Given the description of an element on the screen output the (x, y) to click on. 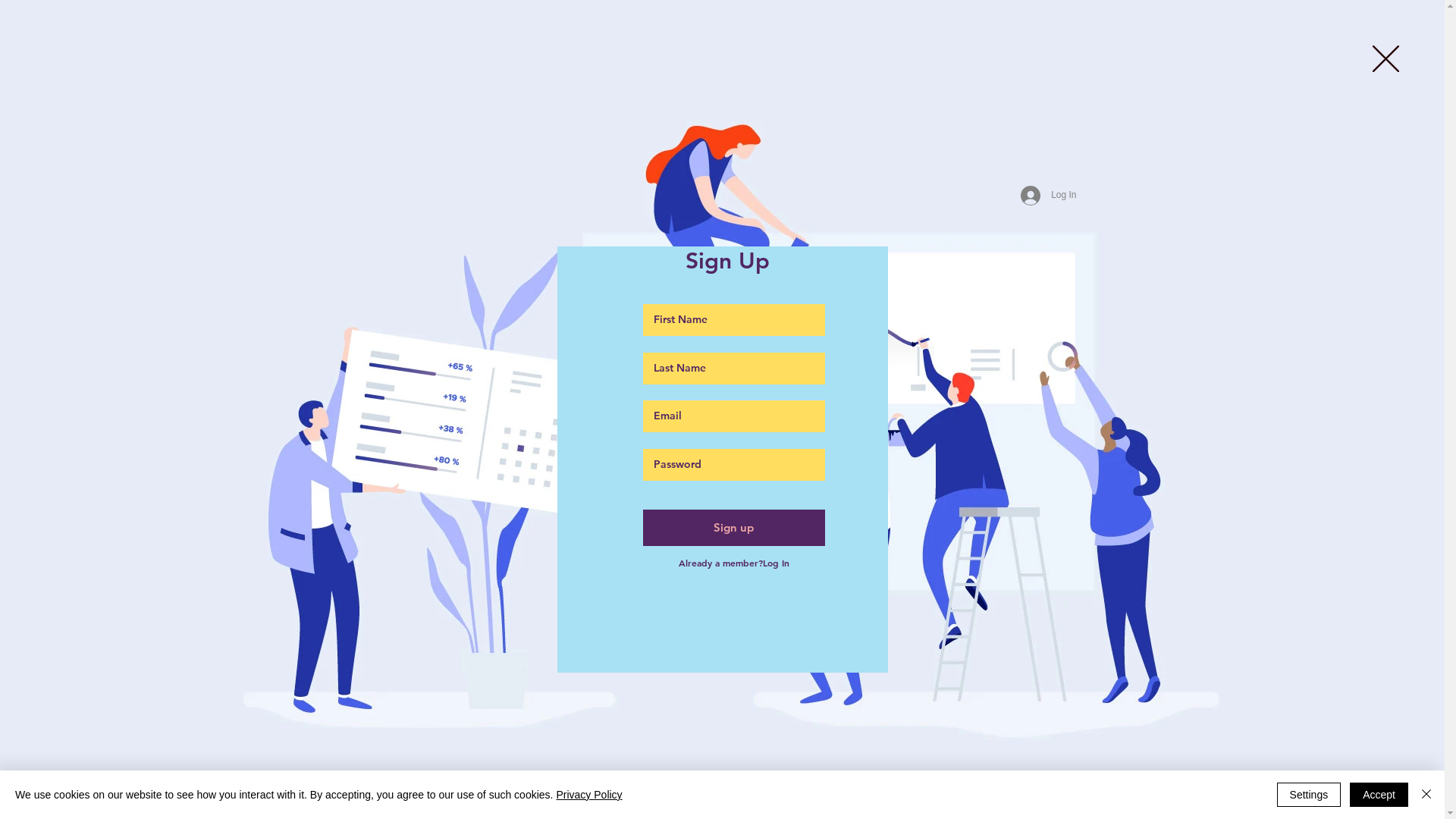
Log In Element type: text (1048, 194)
Settings Element type: text (1309, 794)
Sign up Element type: text (734, 527)
Accept Element type: text (1378, 794)
Privacy Policy Element type: text (588, 794)
Back to site Element type: hover (1385, 58)
